Given the description of an element on the screen output the (x, y) to click on. 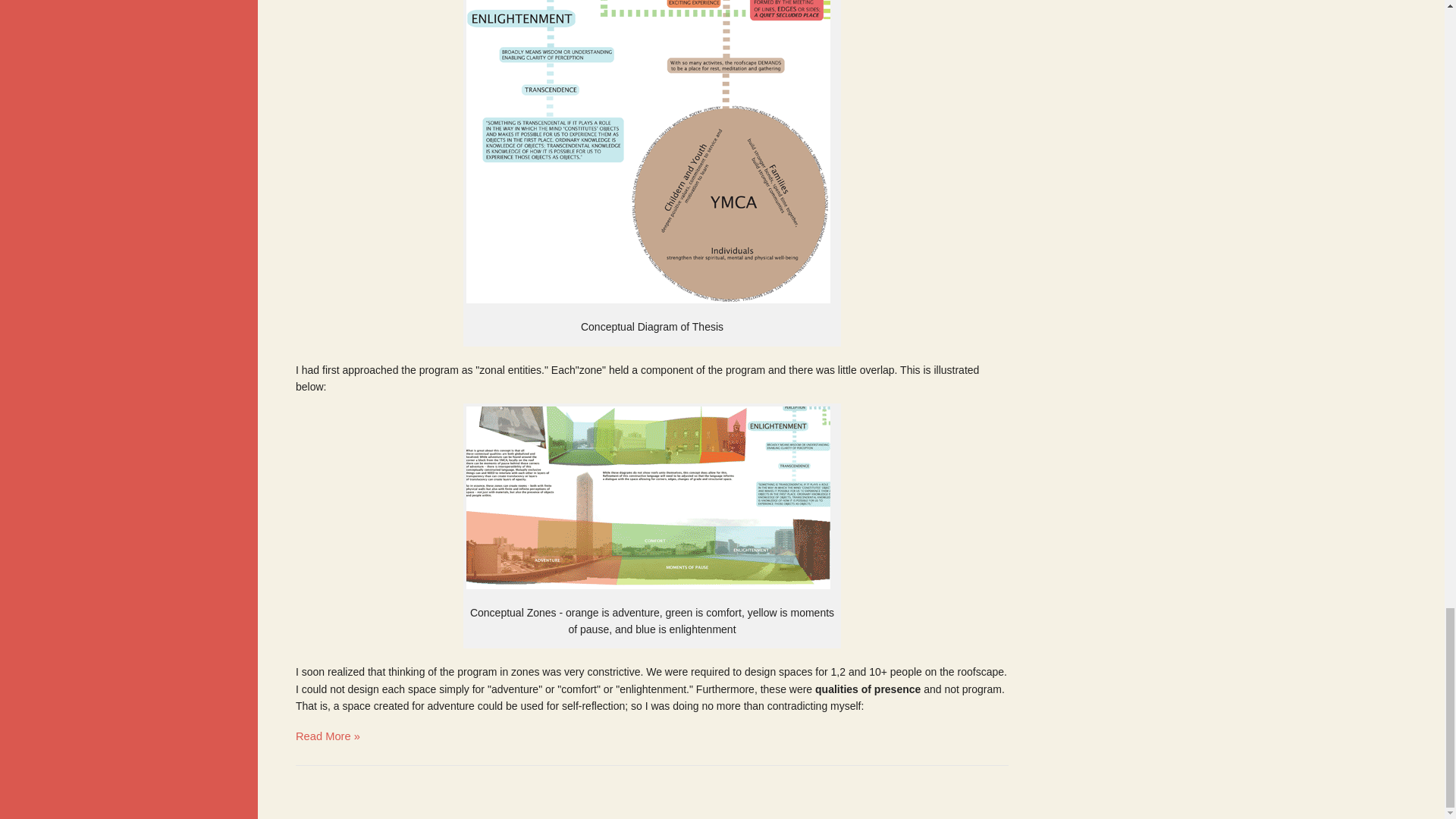
Conceptual Diagram Constucted Landscapes Fall 2008 (647, 151)
